Given the description of an element on the screen output the (x, y) to click on. 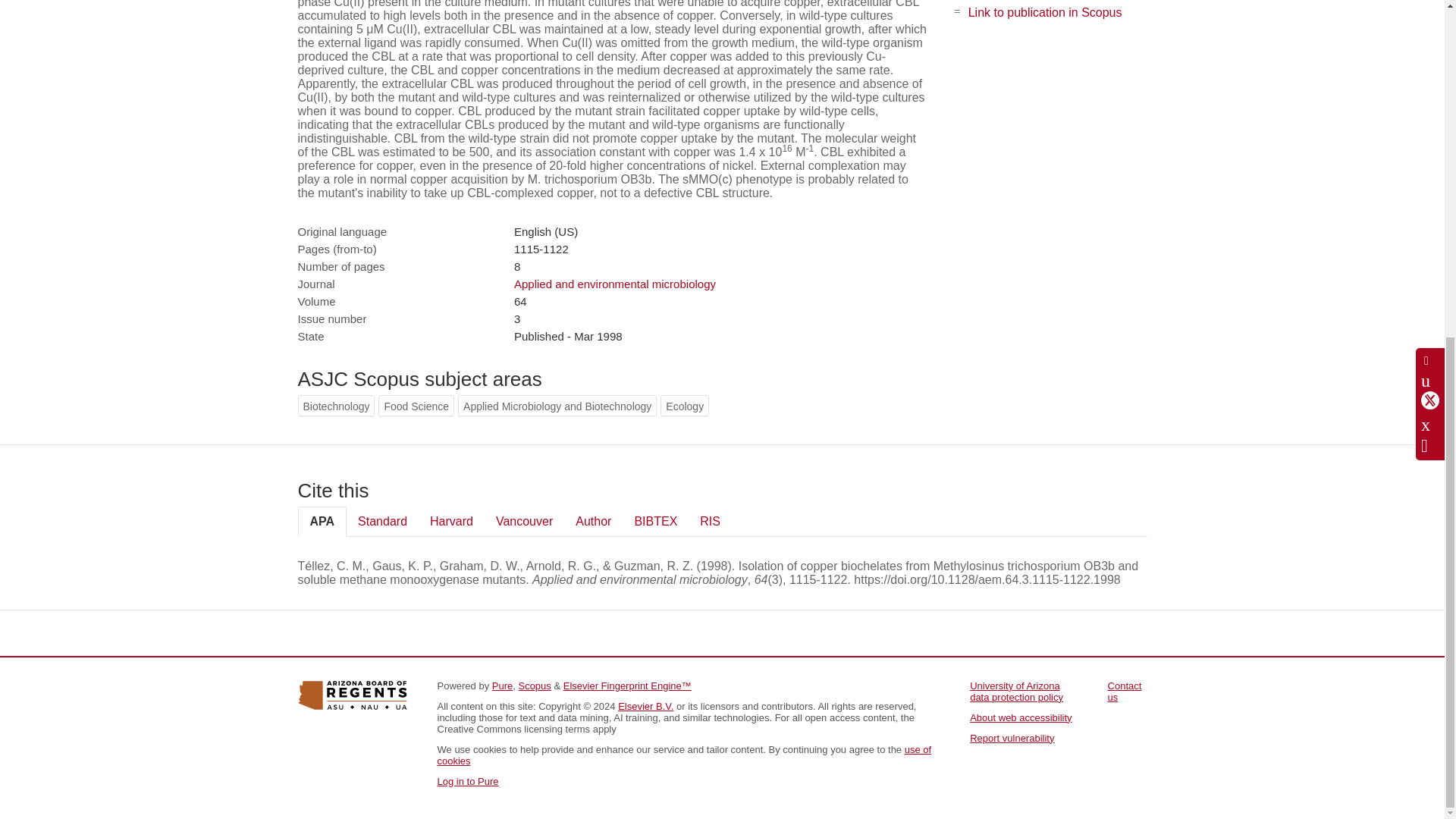
Elsevier B.V. (644, 706)
About web accessibility (1020, 717)
University of Arizona data protection policy (1015, 691)
Link to publication in Scopus (1045, 11)
Applied and environmental microbiology (614, 283)
Contact us (1124, 691)
Report vulnerability (1011, 737)
use of cookies (683, 754)
Scopus (534, 685)
Log in to Pure (466, 781)
Pure (502, 685)
